Given the description of an element on the screen output the (x, y) to click on. 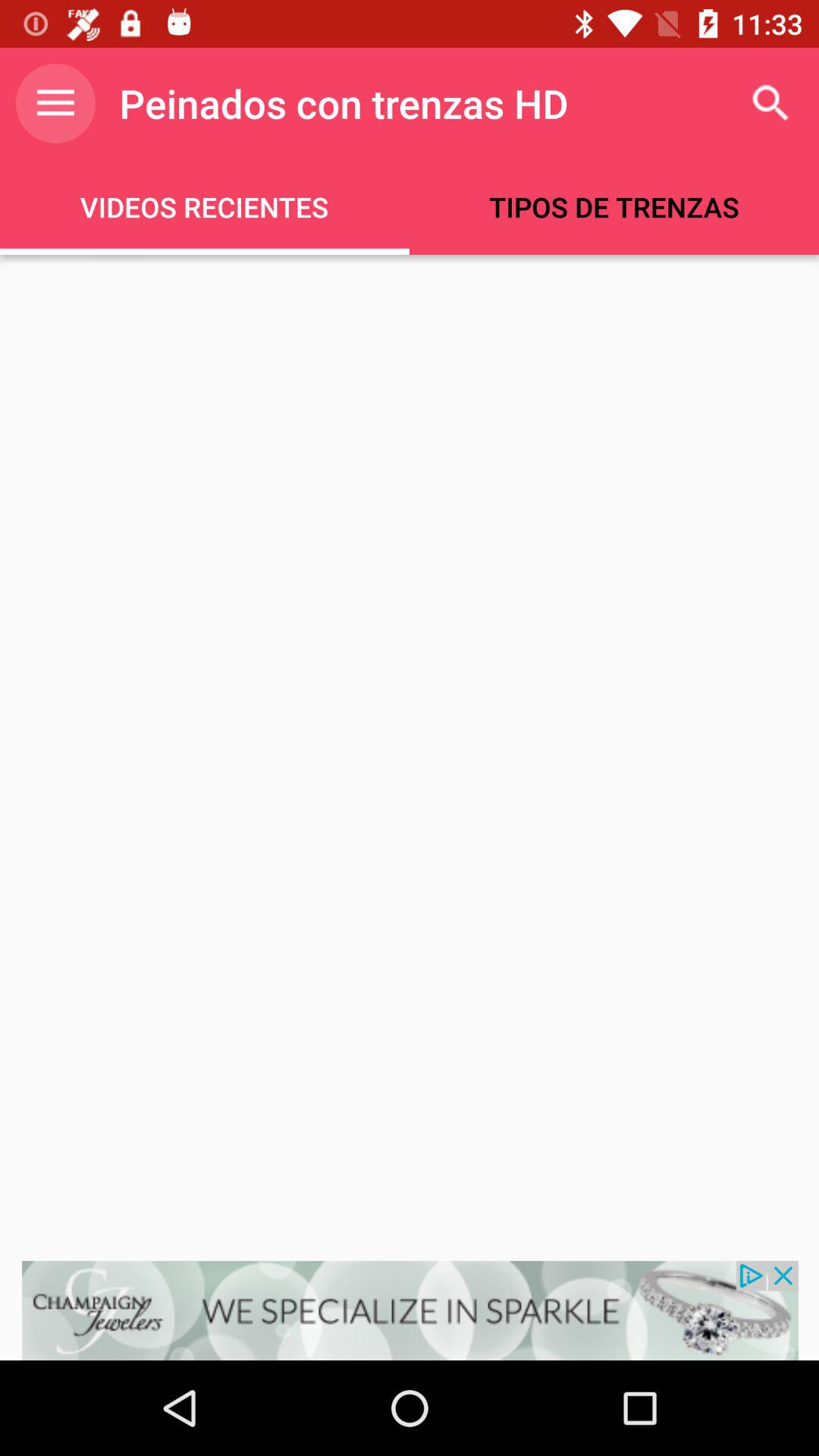
sponsored advertisement (409, 1310)
